Given the description of an element on the screen output the (x, y) to click on. 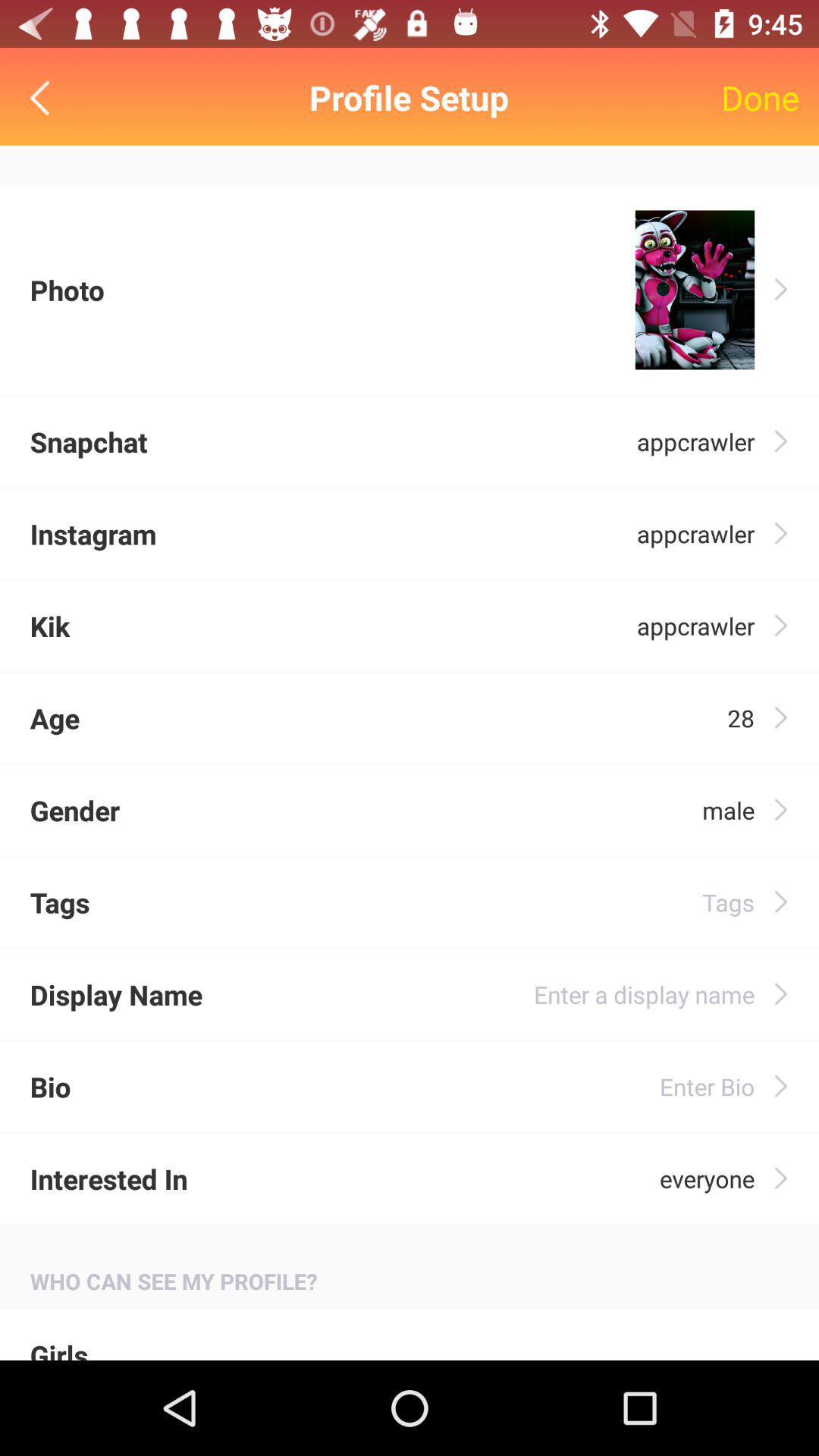
swipe until the done (760, 97)
